Given the description of an element on the screen output the (x, y) to click on. 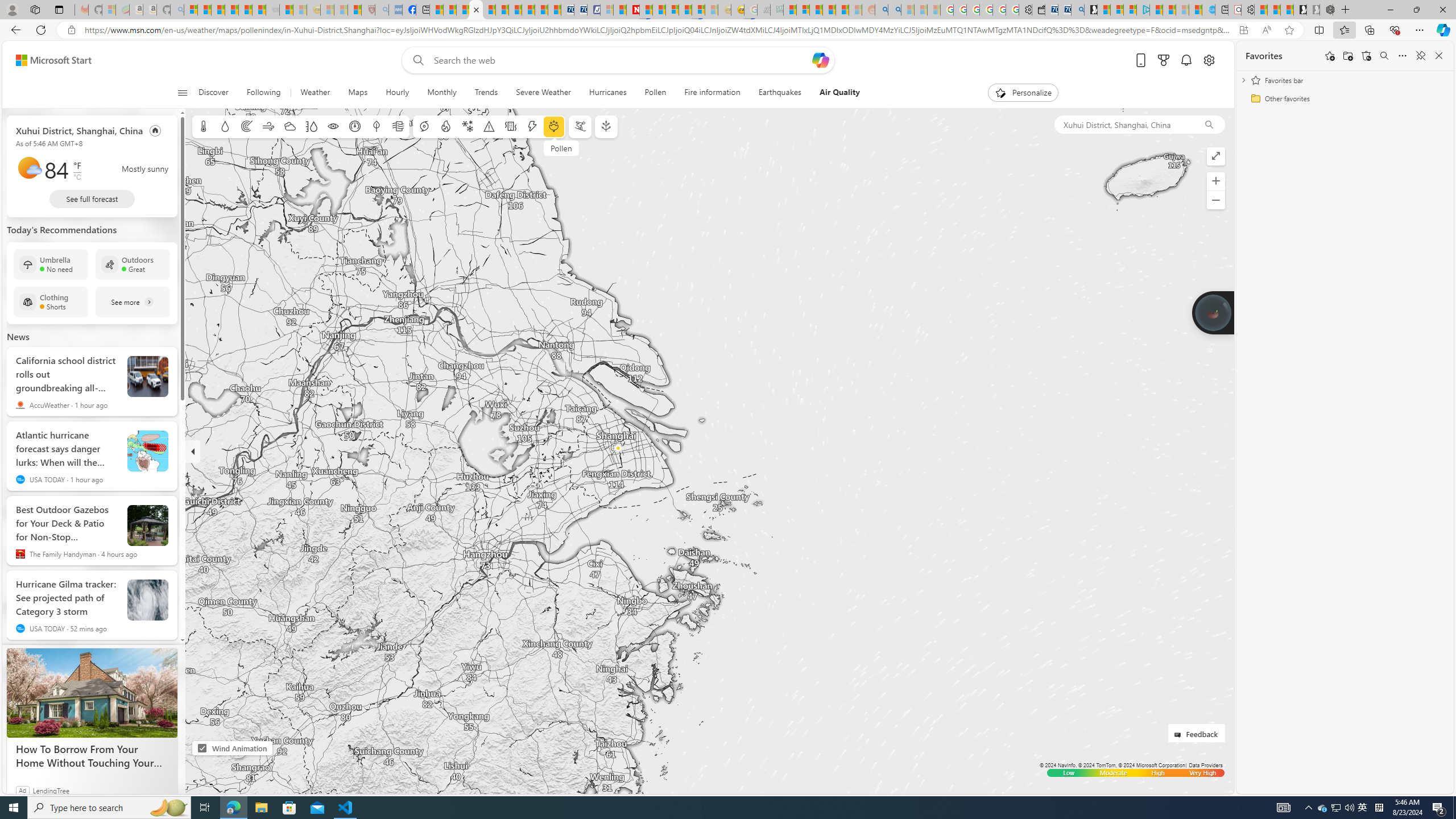
Earthquake (510, 126)
Maps (358, 92)
Hourly (397, 92)
LendingTree (50, 790)
Student Loan Update: Forgiveness Program Ends This Month (842, 9)
